Given the description of an element on the screen output the (x, y) to click on. 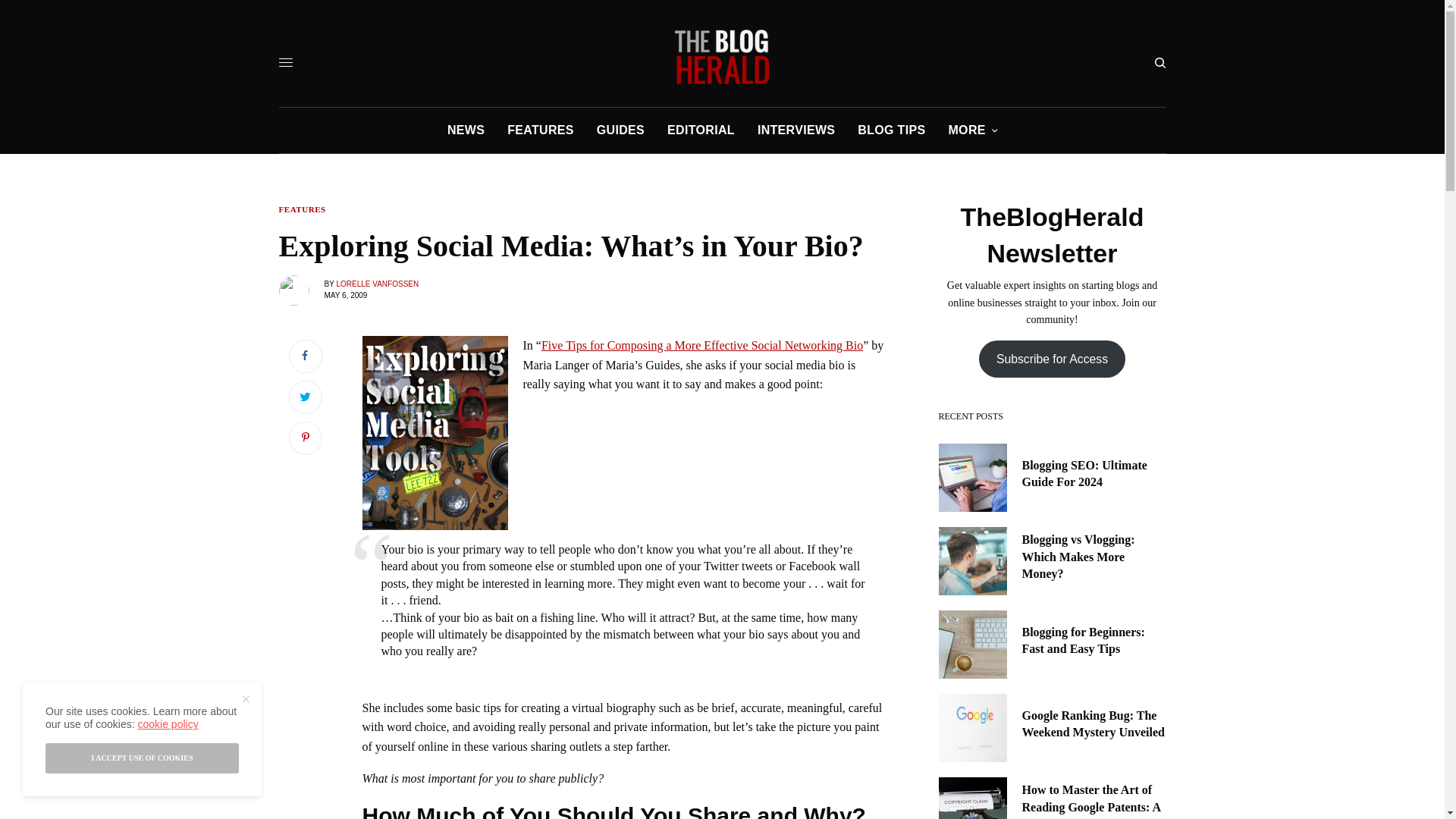
Blogging for Beginners: Fast and Easy Tips (1094, 641)
EDITORIAL (700, 130)
LORELLE VANFOSSEN (377, 284)
Posts by Lorelle VanFossen (377, 284)
INTERVIEWS (795, 130)
Blogging SEO: Ultimate Guide For 2024 (1094, 474)
FEATURES (302, 209)
Blogging vs Vlogging: Which Makes More Money? (1094, 556)
The Blog Herald (722, 56)
BLOG TIPS (890, 130)
GUIDES (620, 130)
Google Ranking Bug: The Weekend Mystery Unveiled (1094, 724)
